Given the description of an element on the screen output the (x, y) to click on. 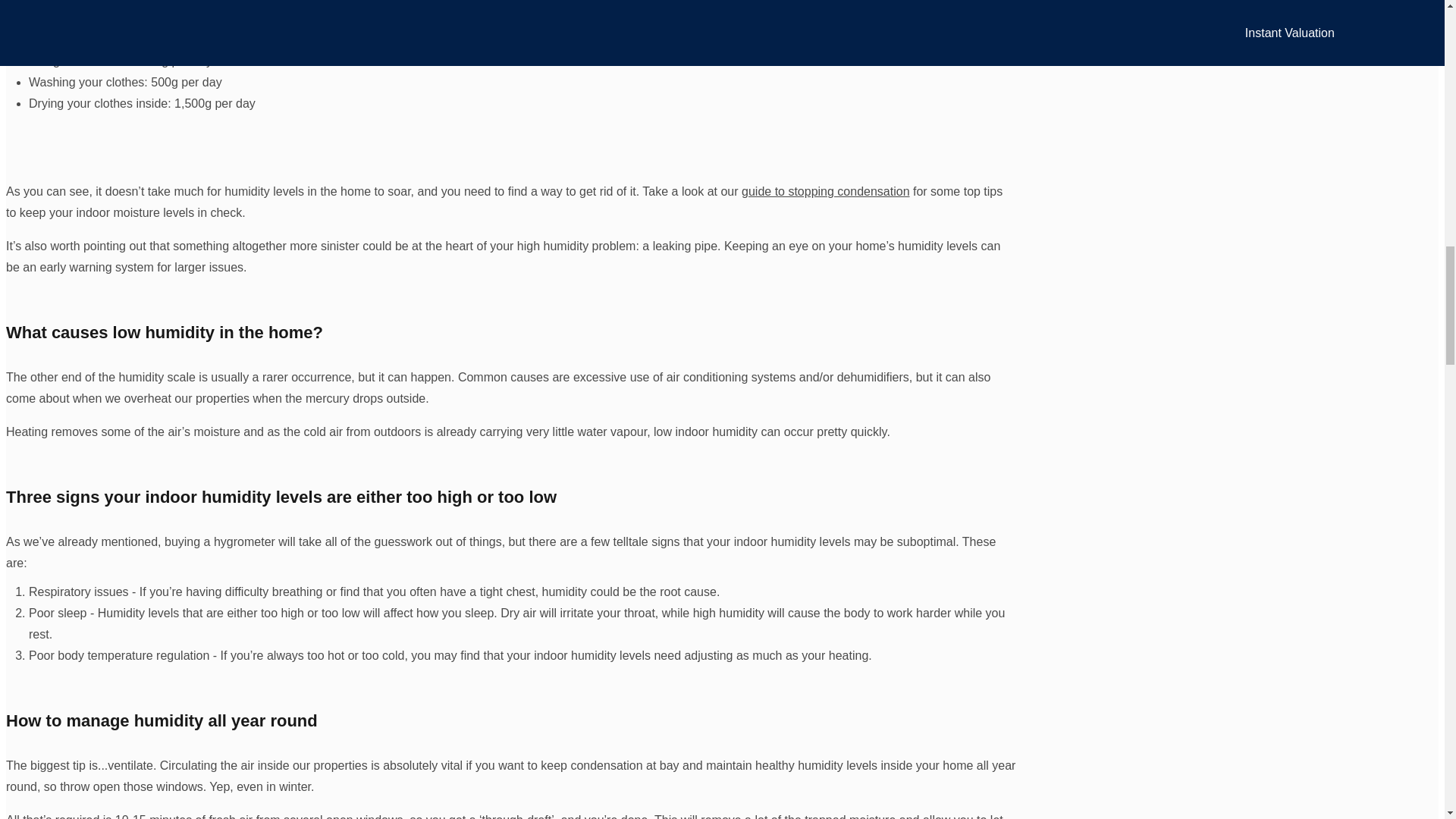
guide to stopping condensation (825, 191)
